Given the description of an element on the screen output the (x, y) to click on. 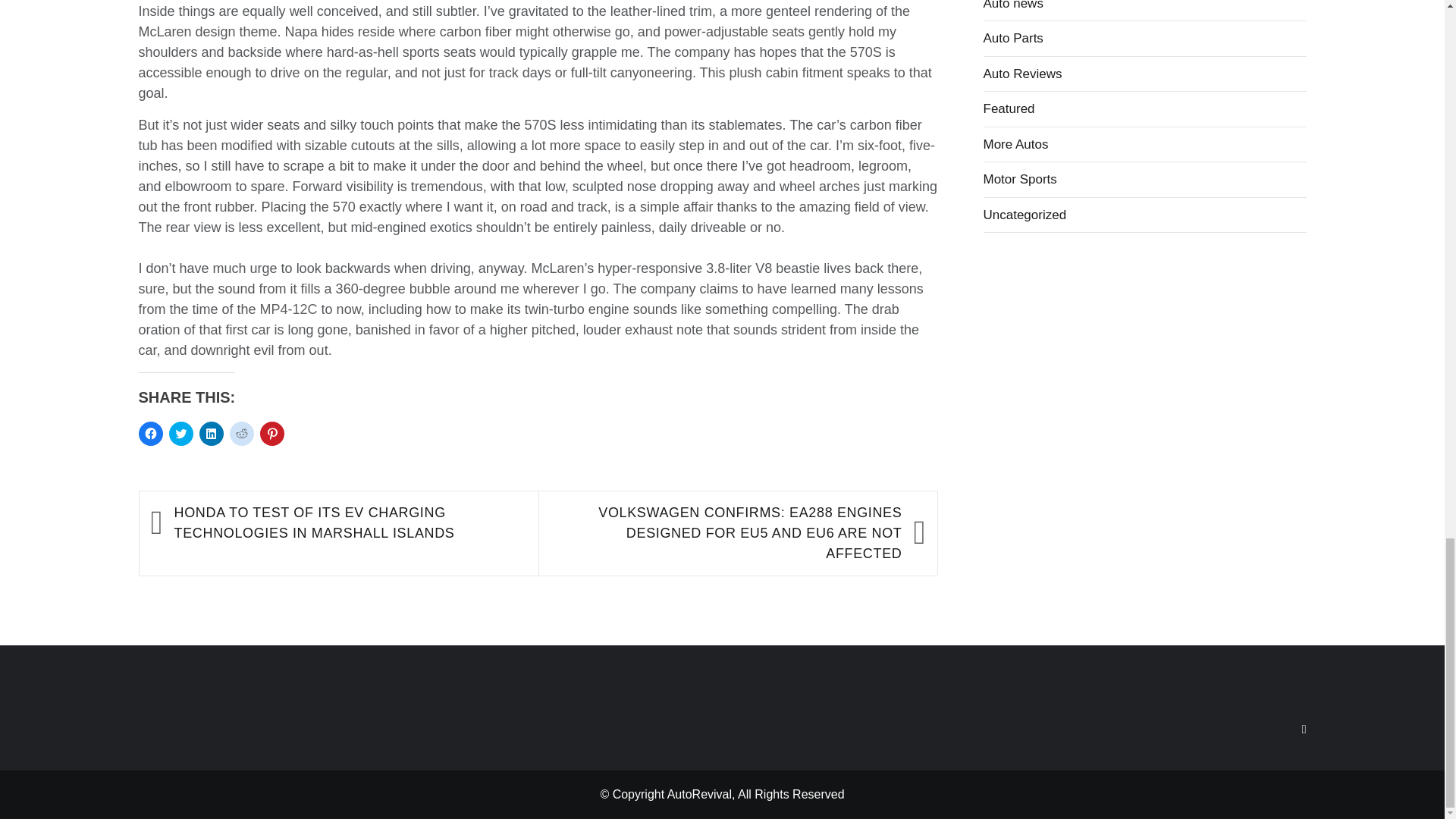
Click to share on Twitter (180, 433)
Click to share on Pinterest (271, 433)
Click to share on LinkedIn (210, 433)
Click to share on Reddit (240, 433)
Click to share on Facebook (149, 433)
